Given the description of an element on the screen output the (x, y) to click on. 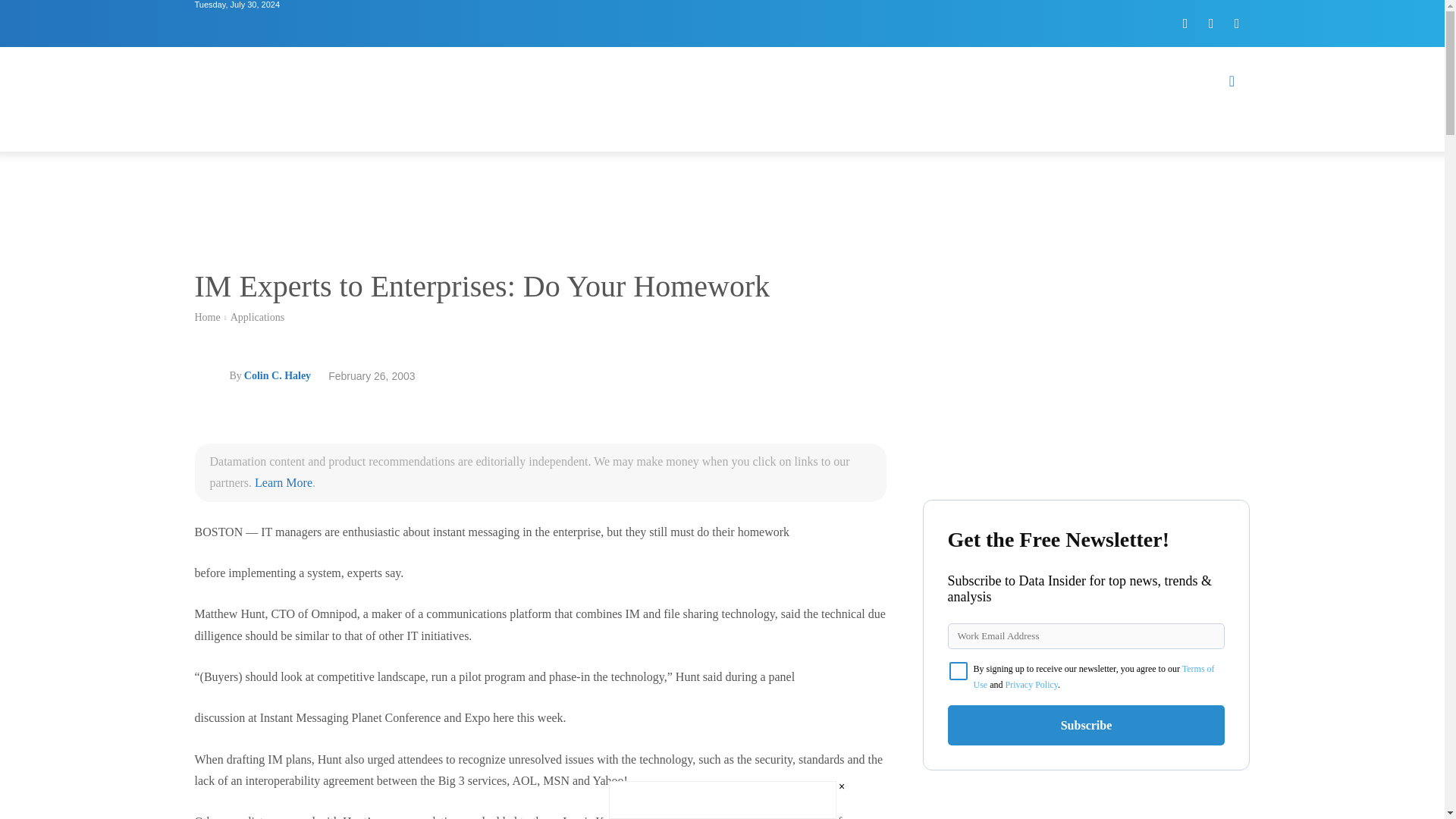
Colin C. Haley (277, 375)
Applications (257, 317)
Twitter (1211, 23)
Home (206, 317)
Facebook (1185, 23)
Youtube (1236, 23)
Learn More (283, 481)
on (958, 670)
Colin C. Haley (210, 376)
View all posts in Applications (257, 317)
